Given the description of an element on the screen output the (x, y) to click on. 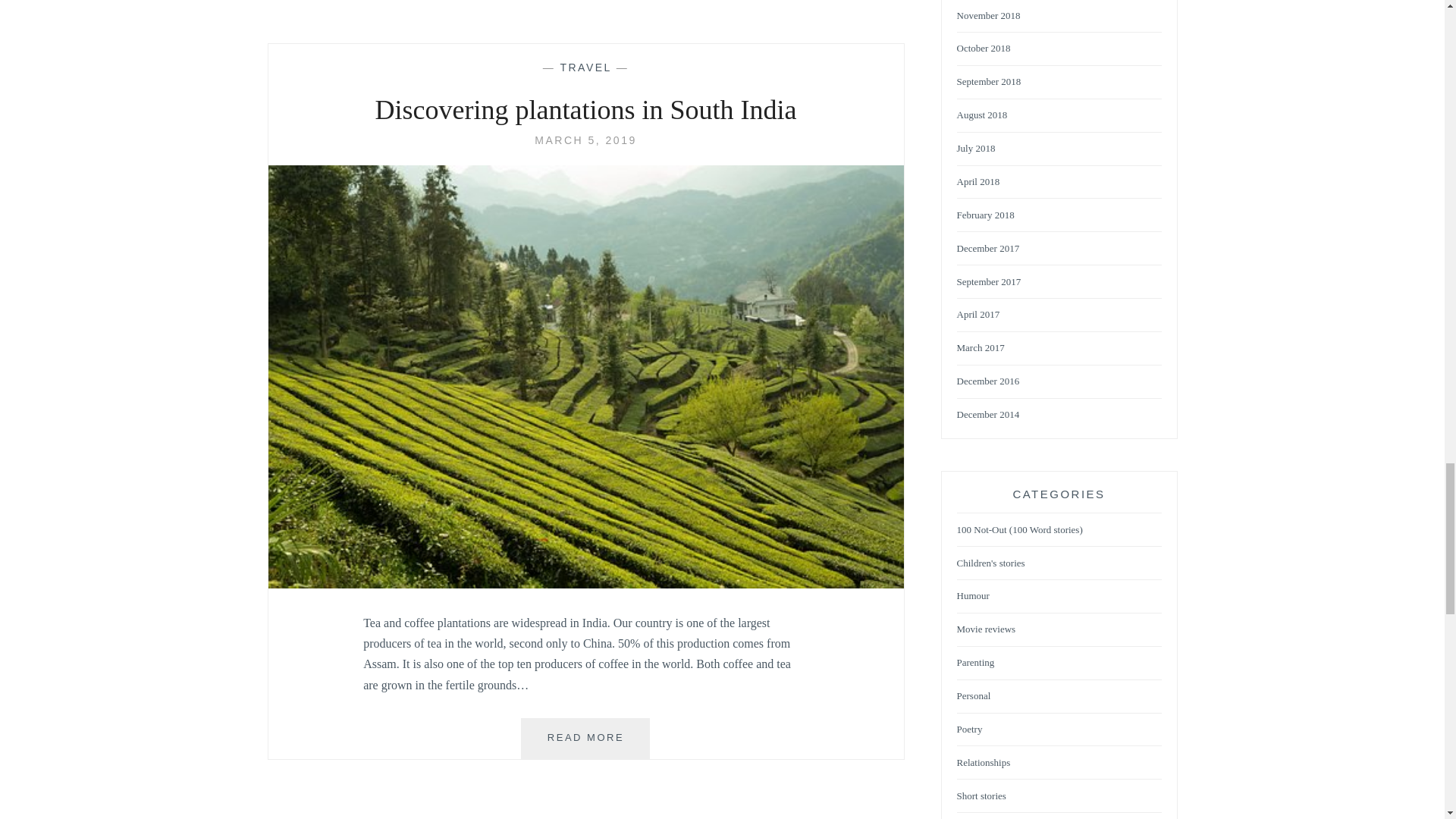
Discovering plantations in South India (585, 111)
Discovering plantations in South India (585, 584)
TRAVEL (585, 738)
MARCH 5, 2019 (585, 67)
Discovering plantations in South India (585, 140)
